Given the description of an element on the screen output the (x, y) to click on. 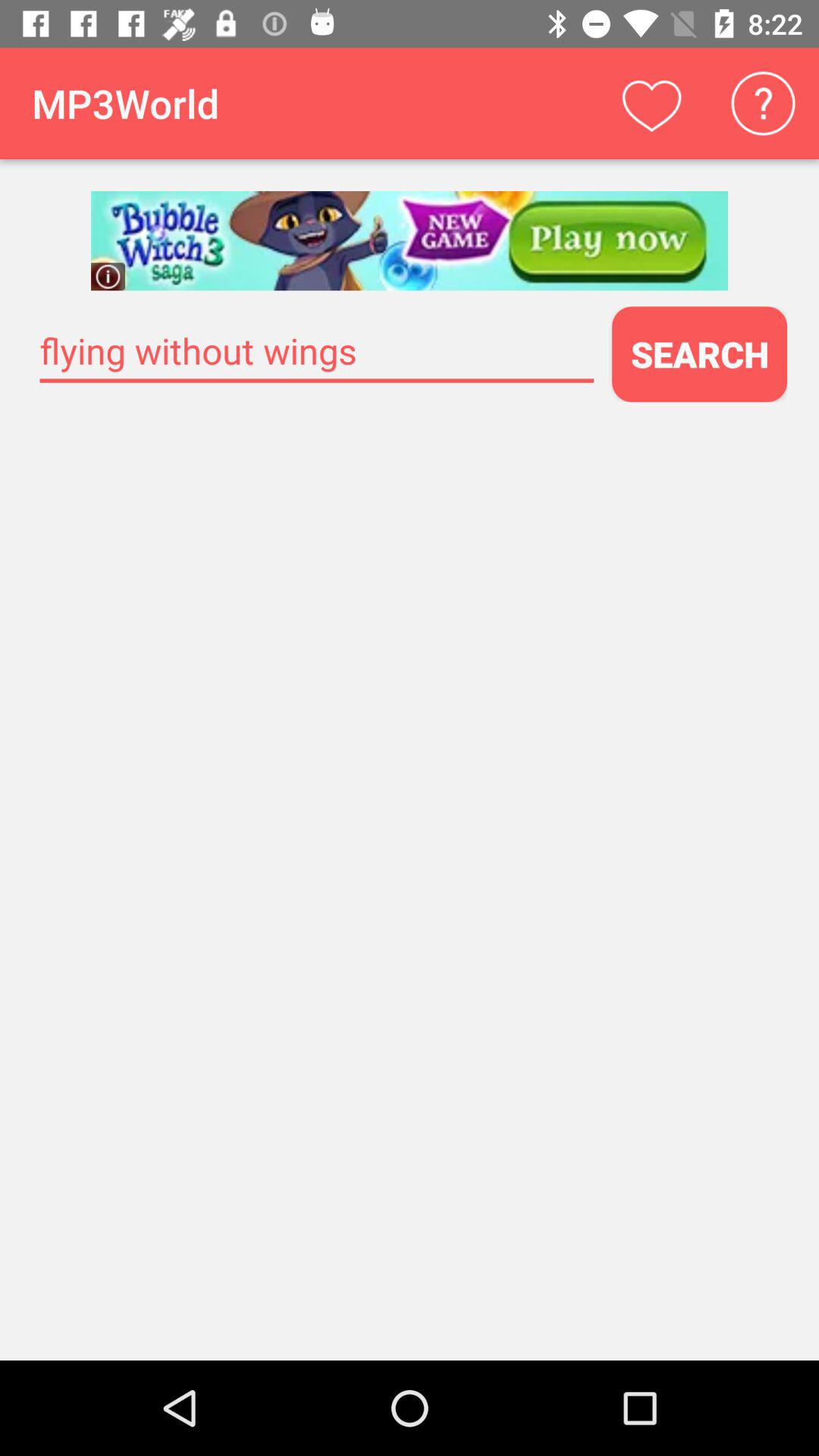
google advertisements (409, 240)
